Given the description of an element on the screen output the (x, y) to click on. 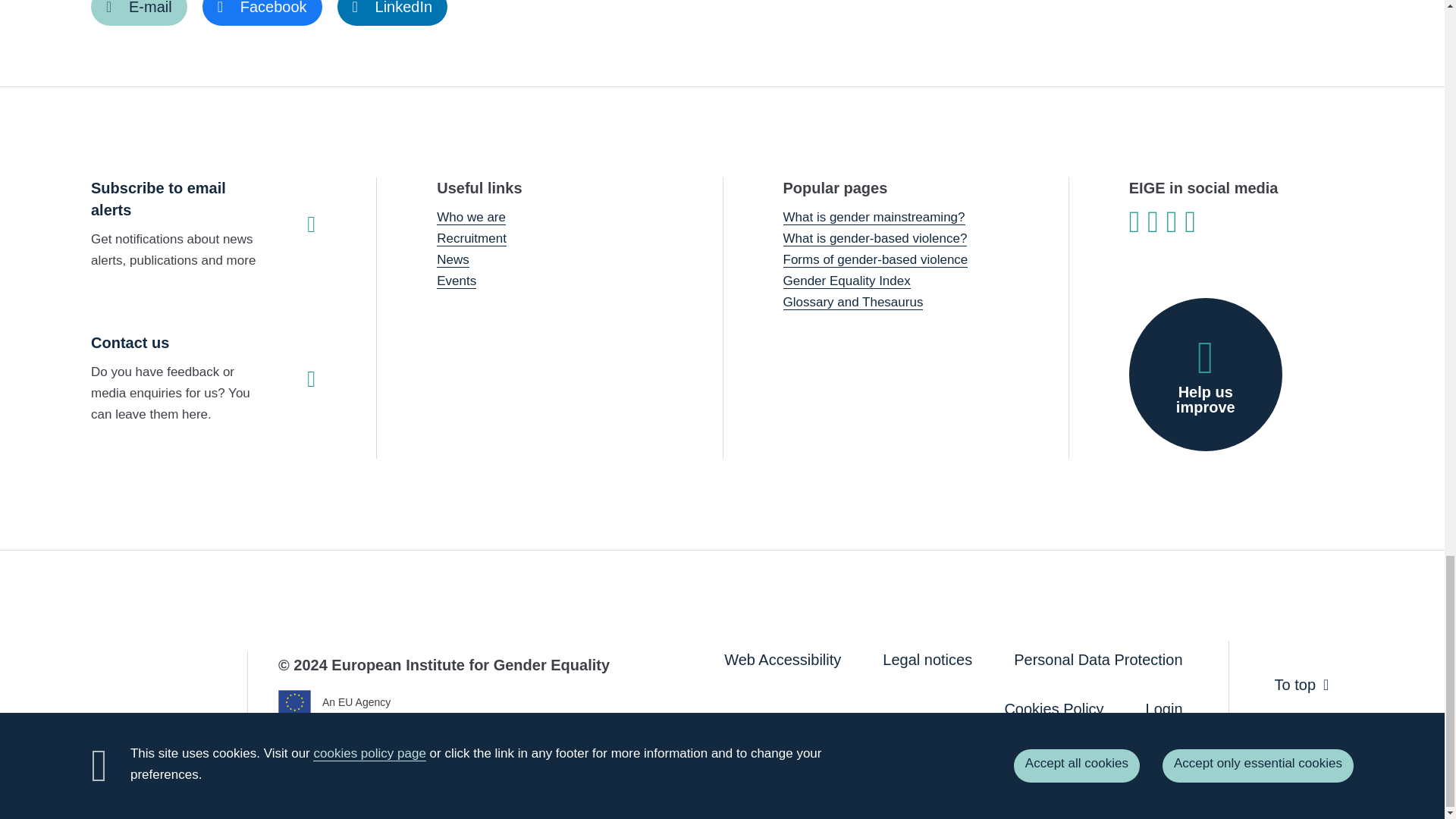
Facebook (261, 12)
E-mail (138, 12)
LinkedIn (392, 12)
